Given the description of an element on the screen output the (x, y) to click on. 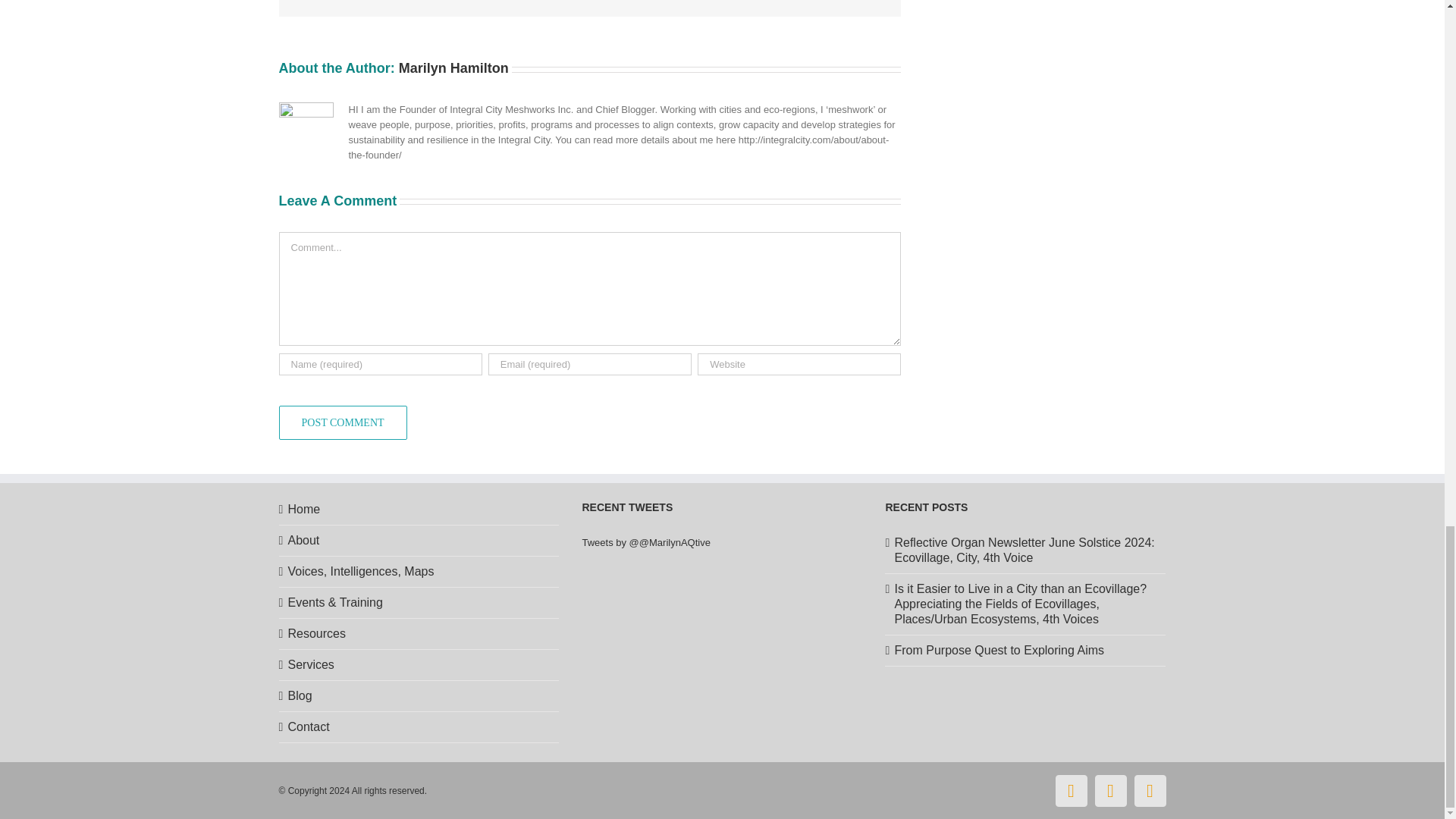
Posts by Marilyn Hamilton (453, 68)
Post Comment (343, 422)
